Given the description of an element on the screen output the (x, y) to click on. 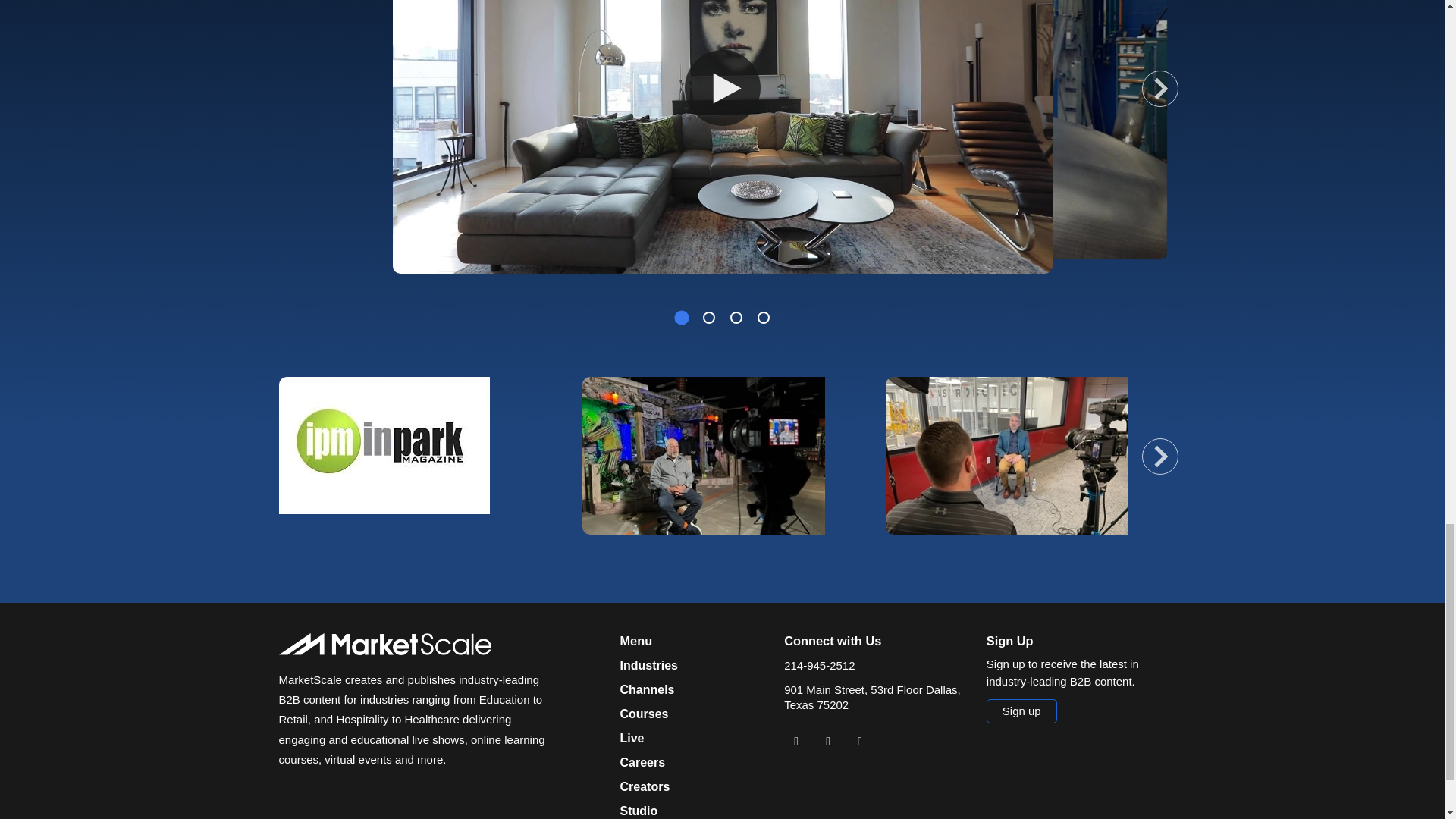
Share on X (827, 741)
Share on Linkedin (796, 741)
Share on Instagram (859, 741)
